Given the description of an element on the screen output the (x, y) to click on. 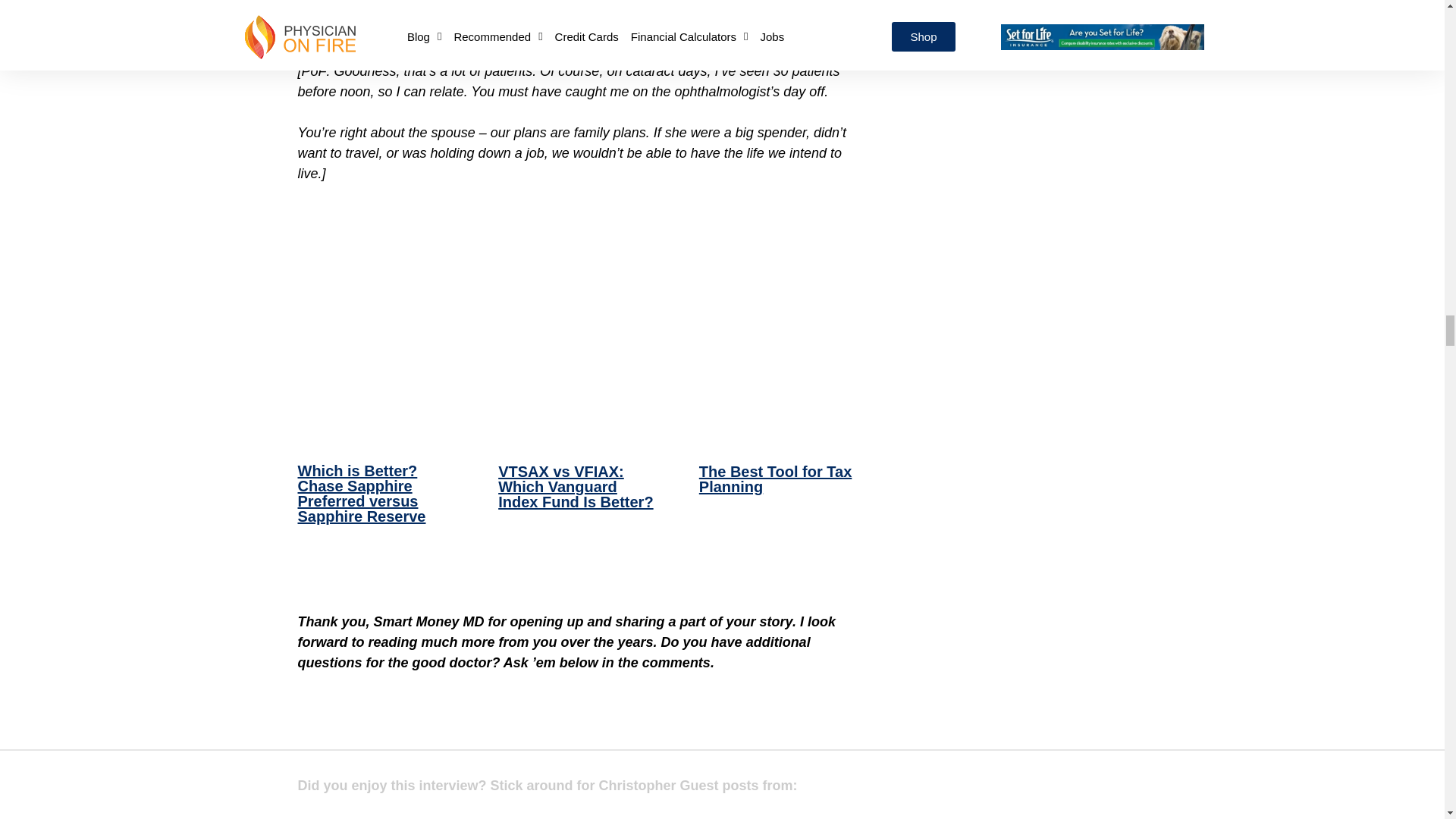
Christopher Guest Post: Smart Money MD 11 (577, 279)
Christopher Guest Post: Smart Money MD 13 (577, 405)
VTSAX vs VFIAX: Which Vanguard Index Fund Is Better? (577, 439)
Christopher Guest Post: Smart Money MD 12 (377, 405)
